Given the description of an element on the screen output the (x, y) to click on. 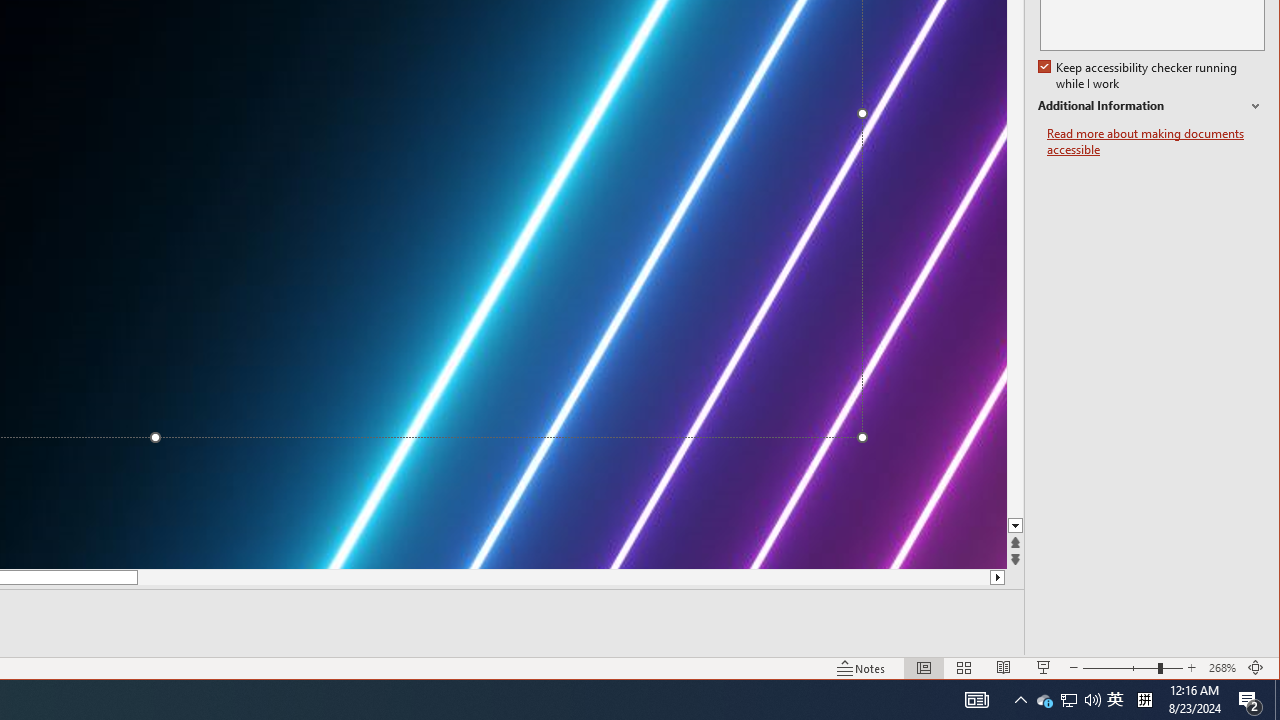
Zoom 268% (1222, 668)
